Given the description of an element on the screen output the (x, y) to click on. 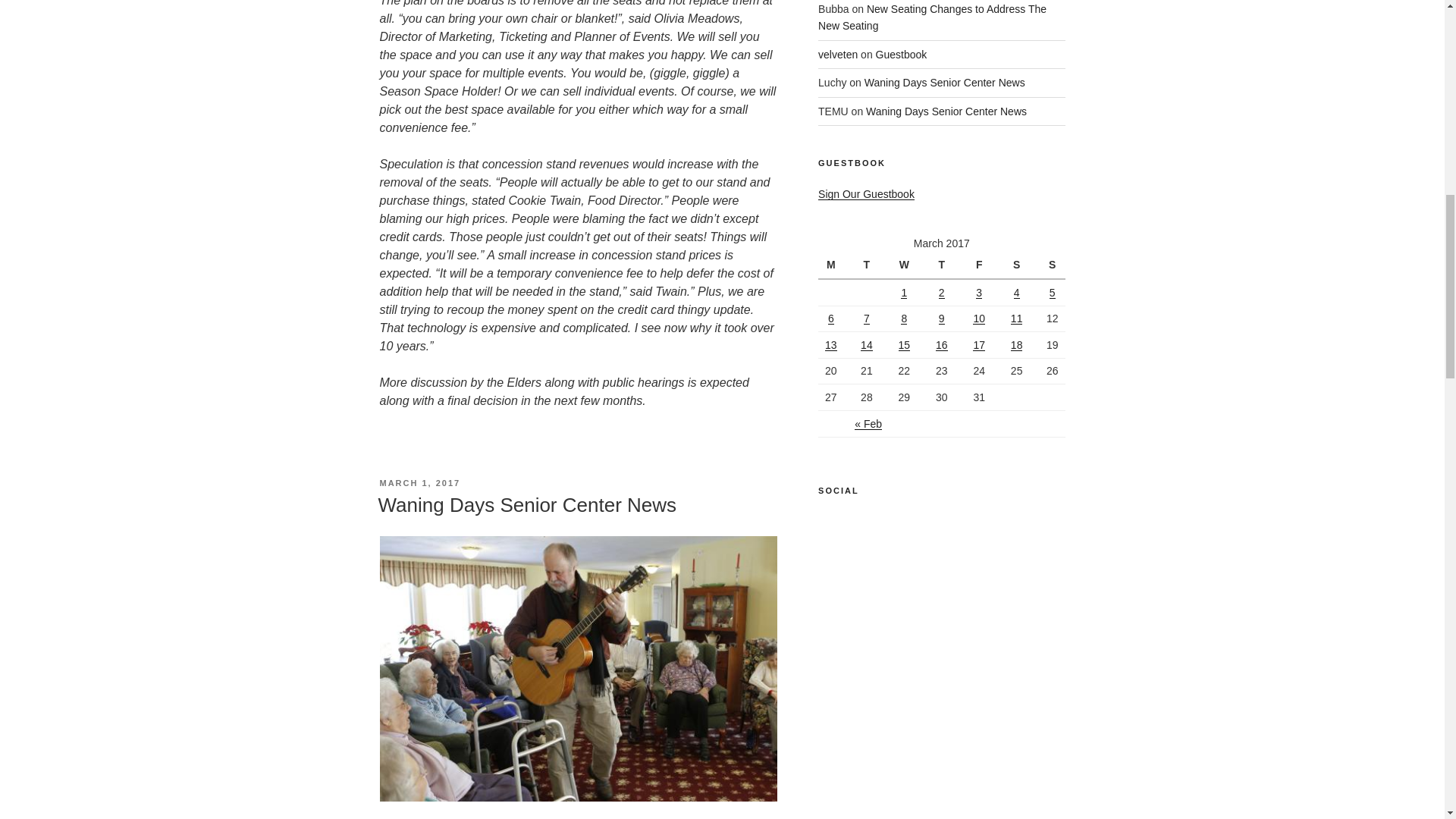
Sign Our Guestbook (866, 193)
Waning Days Senior Center News (946, 110)
Monday (832, 265)
Waning Days Senior Center News (527, 504)
Guestbook (901, 54)
Waning Days Senior Center News (944, 82)
Thursday (941, 265)
Tuesday (866, 265)
MARCH 1, 2017 (419, 482)
Friday (978, 265)
